Given the description of an element on the screen output the (x, y) to click on. 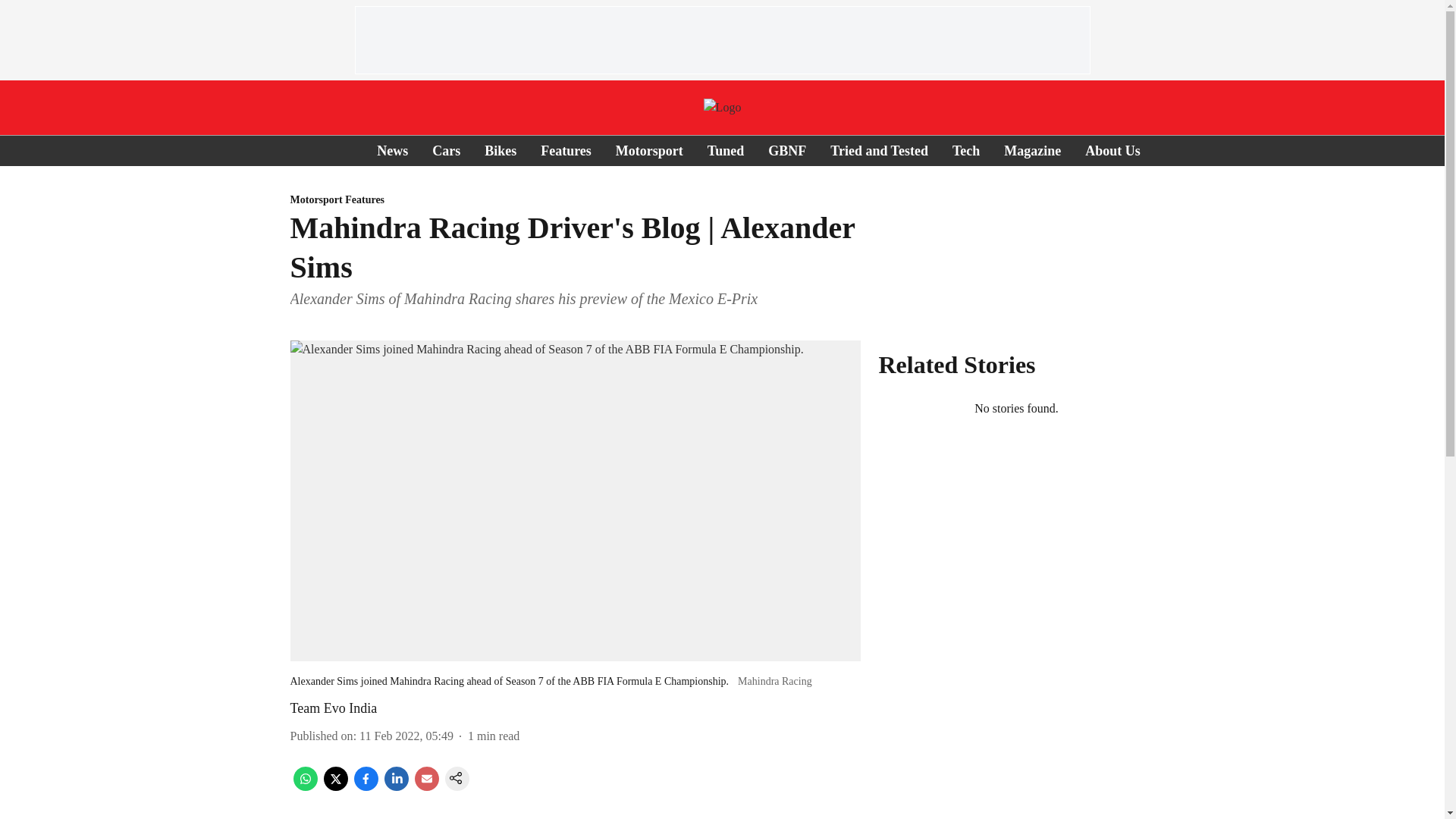
Cars (446, 150)
Tuned (725, 150)
Magazine (1032, 150)
Bikes (500, 150)
Features (565, 150)
Tried and Tested (878, 150)
Motorsport (648, 150)
GBNF (787, 150)
Motorsport Features (574, 200)
